Given the description of an element on the screen output the (x, y) to click on. 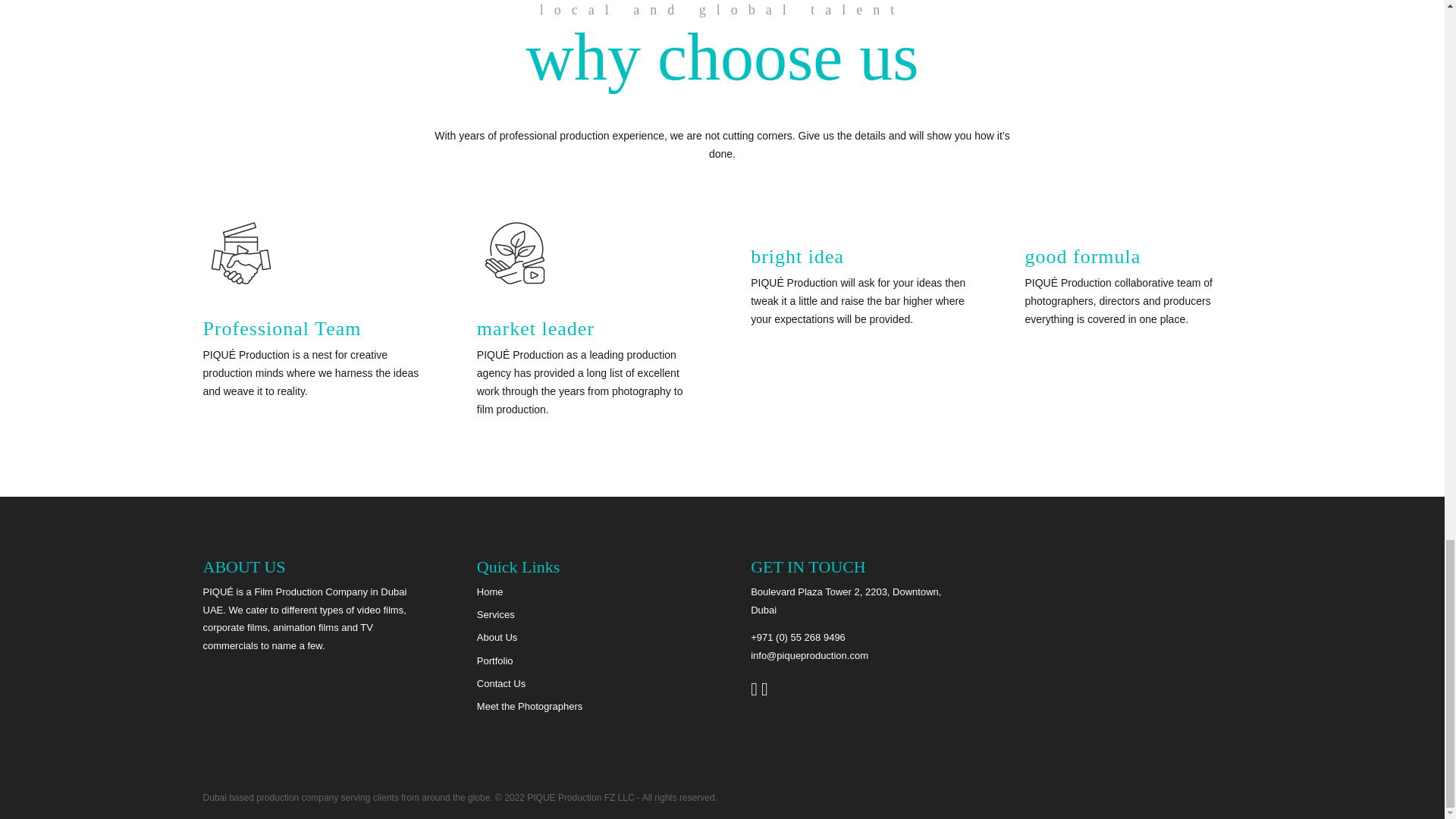
Home (490, 591)
Meet the Photographers (529, 706)
Services (496, 614)
Portfolio (495, 660)
Contact Us (501, 683)
About Us (496, 636)
